Given the description of an element on the screen output the (x, y) to click on. 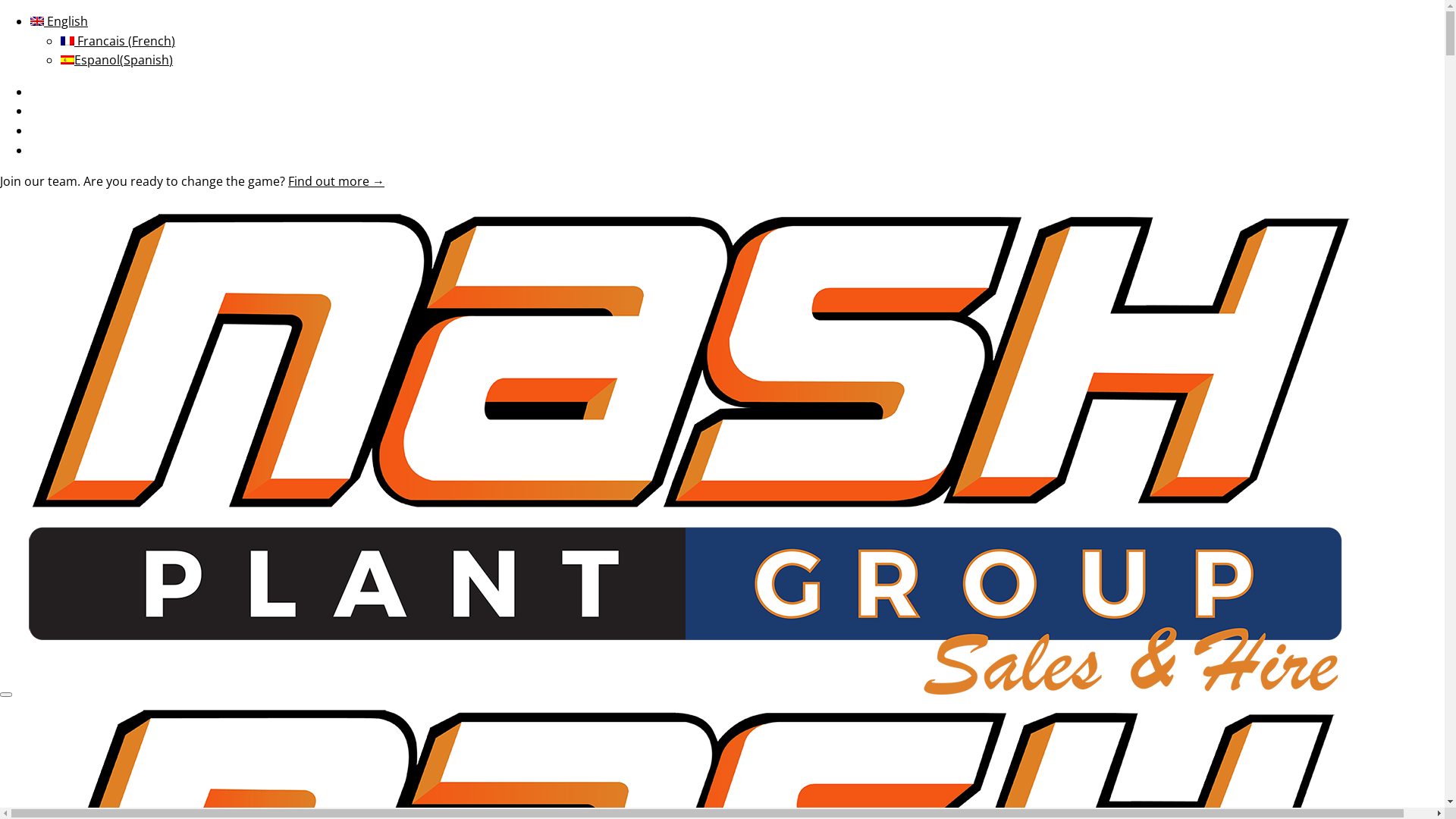
French Element type: hover (67, 40)
Francais (French) Element type: text (117, 40)
English Element type: text (58, 20)
Espanol(Spanish) Element type: text (116, 59)
English Element type: hover (36, 20)
Nash Plant Group Element type: hover (686, 689)
